Given the description of an element on the screen output the (x, y) to click on. 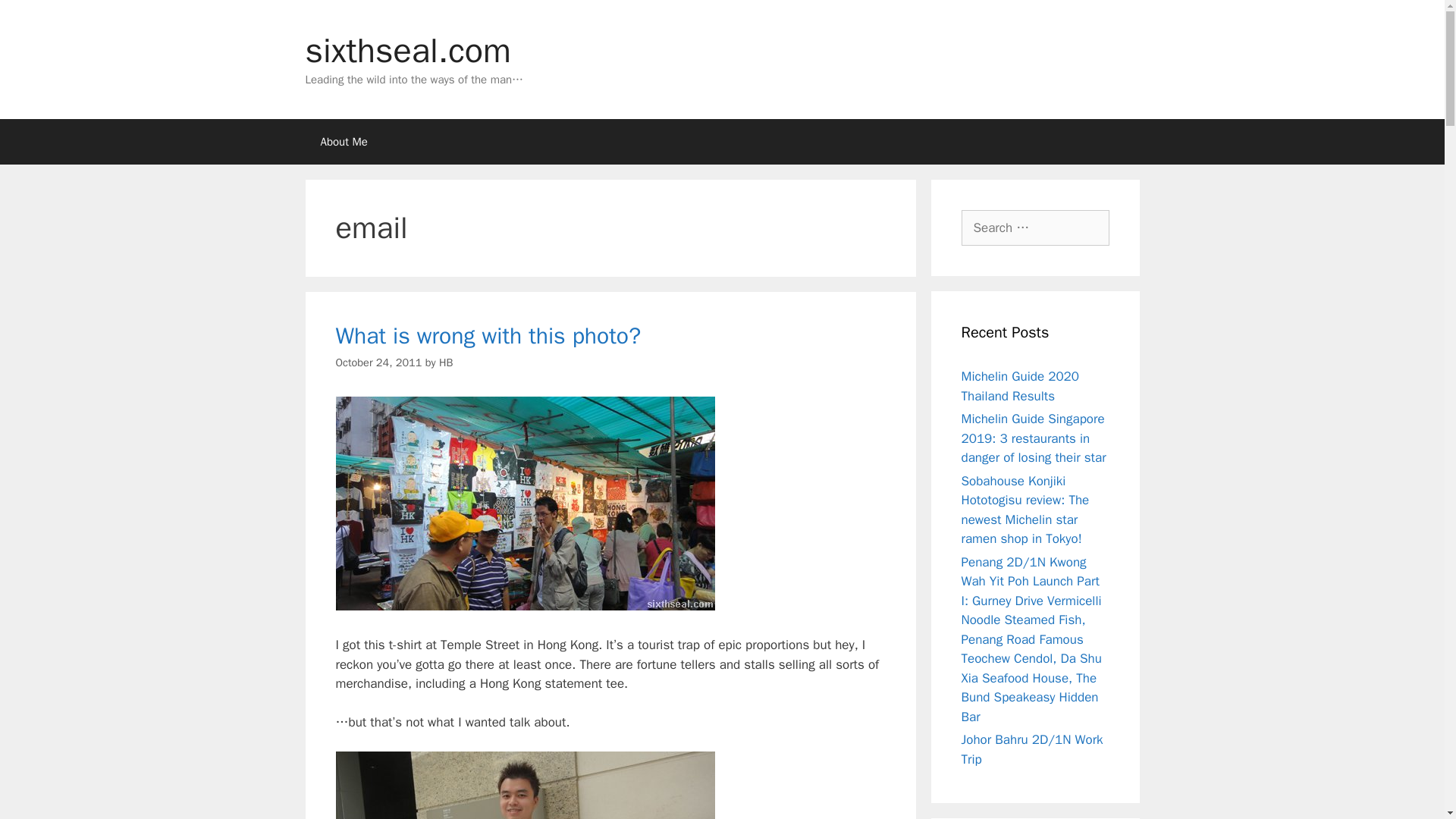
Michelin Guide 2020 Thailand Results (1020, 386)
1:13 pm (378, 362)
HB (445, 362)
About Me (342, 140)
October 24, 2011 (378, 362)
Search for: (1034, 227)
What is wrong with this photo? (487, 335)
View all posts by HB (445, 362)
Search (35, 18)
sixthseal.com (407, 50)
